Given the description of an element on the screen output the (x, y) to click on. 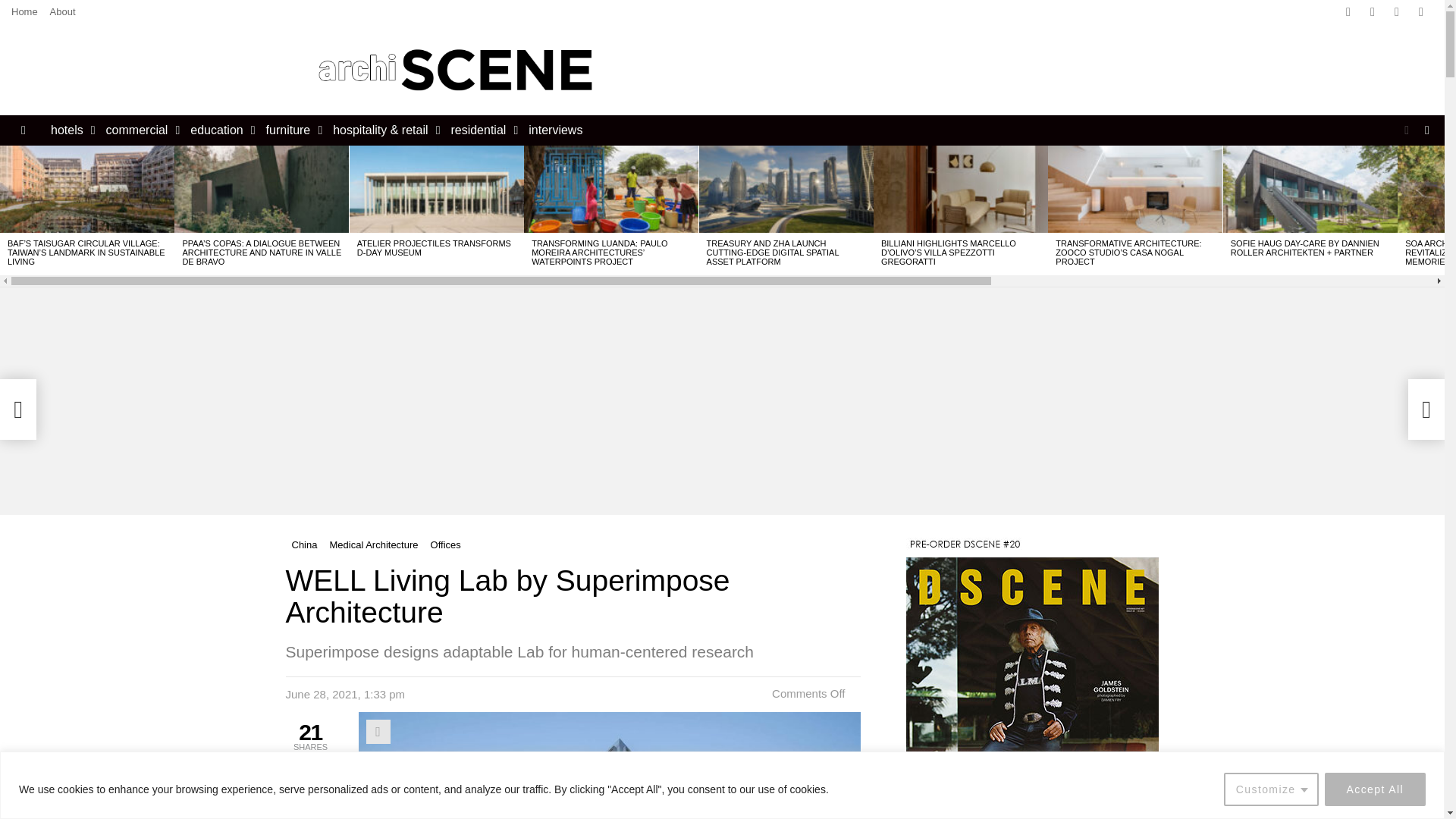
Advertisement (917, 70)
Menu (22, 130)
Twitter (1371, 11)
About (62, 12)
commercial (139, 129)
hotels (69, 129)
Customize (1271, 788)
instagram (1396, 11)
Home (24, 12)
Accept All (1374, 788)
pinterest (1420, 11)
education (218, 129)
Facebook (1347, 11)
